Given the description of an element on the screen output the (x, y) to click on. 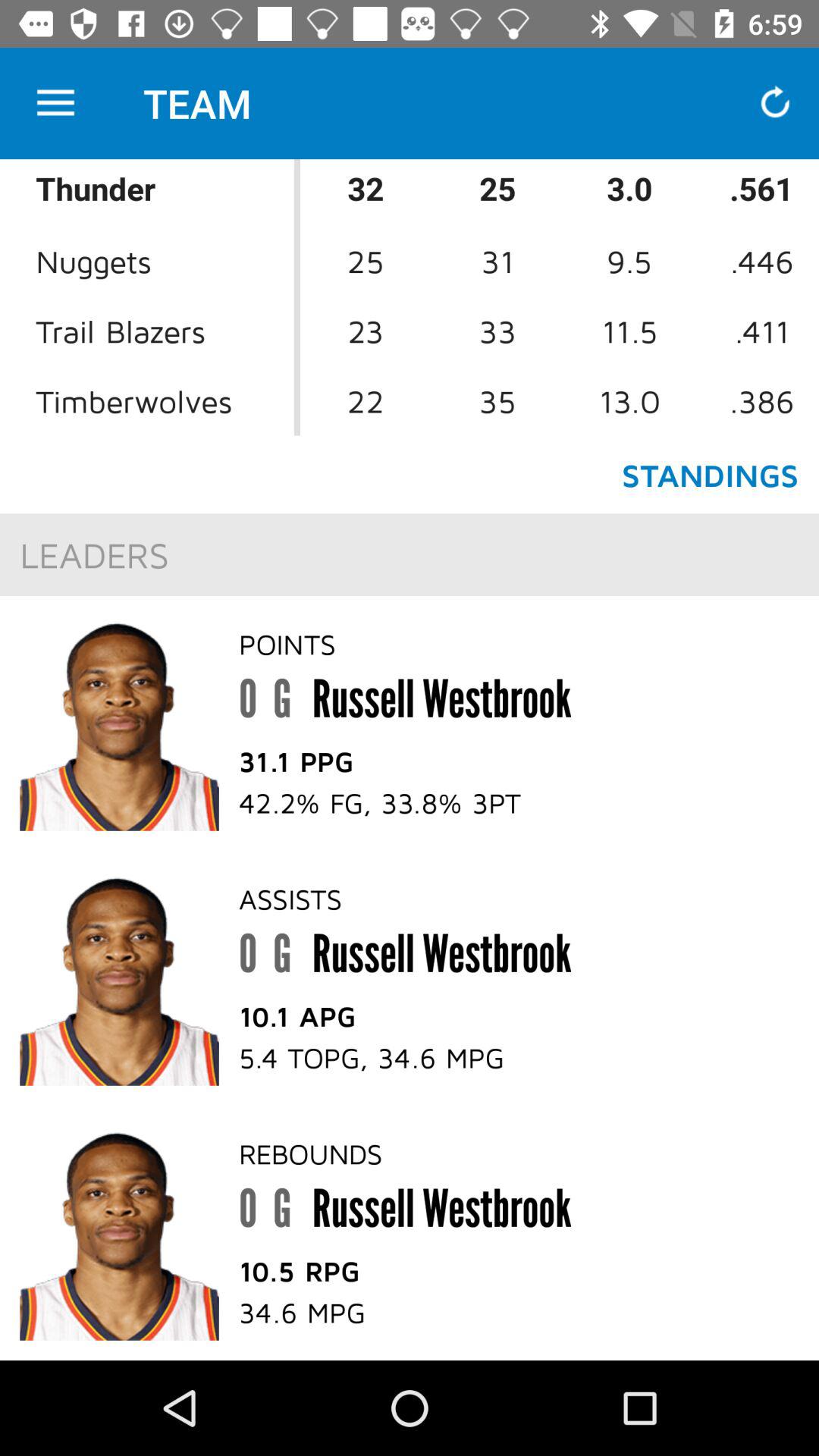
tap icon above the thunder (55, 103)
